Given the description of an element on the screen output the (x, y) to click on. 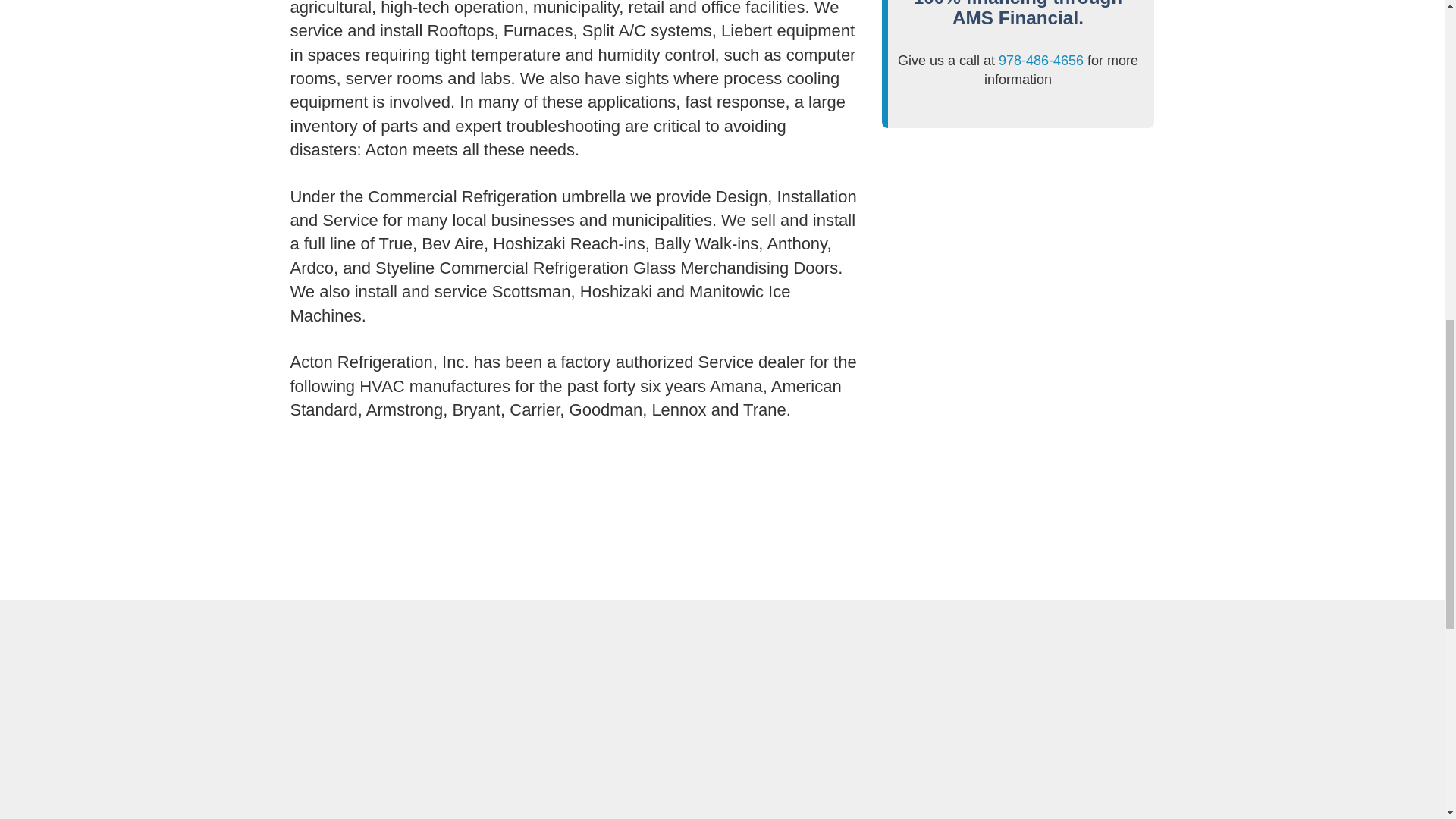
lennox (389, 796)
mitsubishi (611, 796)
acca (1054, 698)
bryant (833, 796)
hvac clients (402, 542)
ashrae (1054, 796)
978-486-4656 (1040, 60)
